Given the description of an element on the screen output the (x, y) to click on. 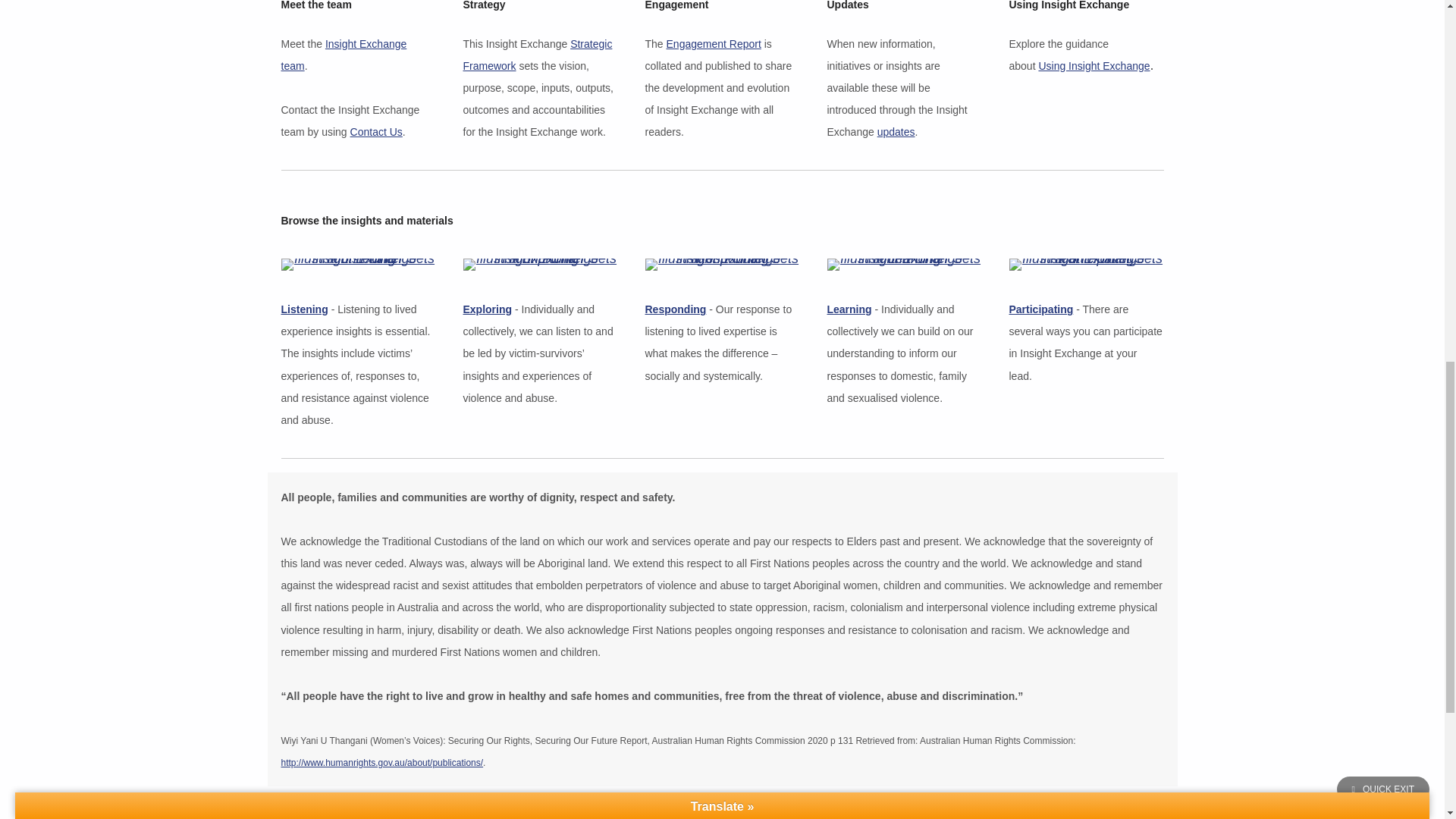
Insight Exchange Illustration Pointer Sets - Listening (358, 264)
Insight Exchange Illustration Pointer Sets - Participating (1086, 264)
Insight Exchange Illustration Pointer Sets - Responding (722, 264)
Insight Exchange Illustration Pointer Sets - Exploring (540, 264)
Insight Exchange Illustration Pointer Sets - Learning (904, 264)
